Given the description of an element on the screen output the (x, y) to click on. 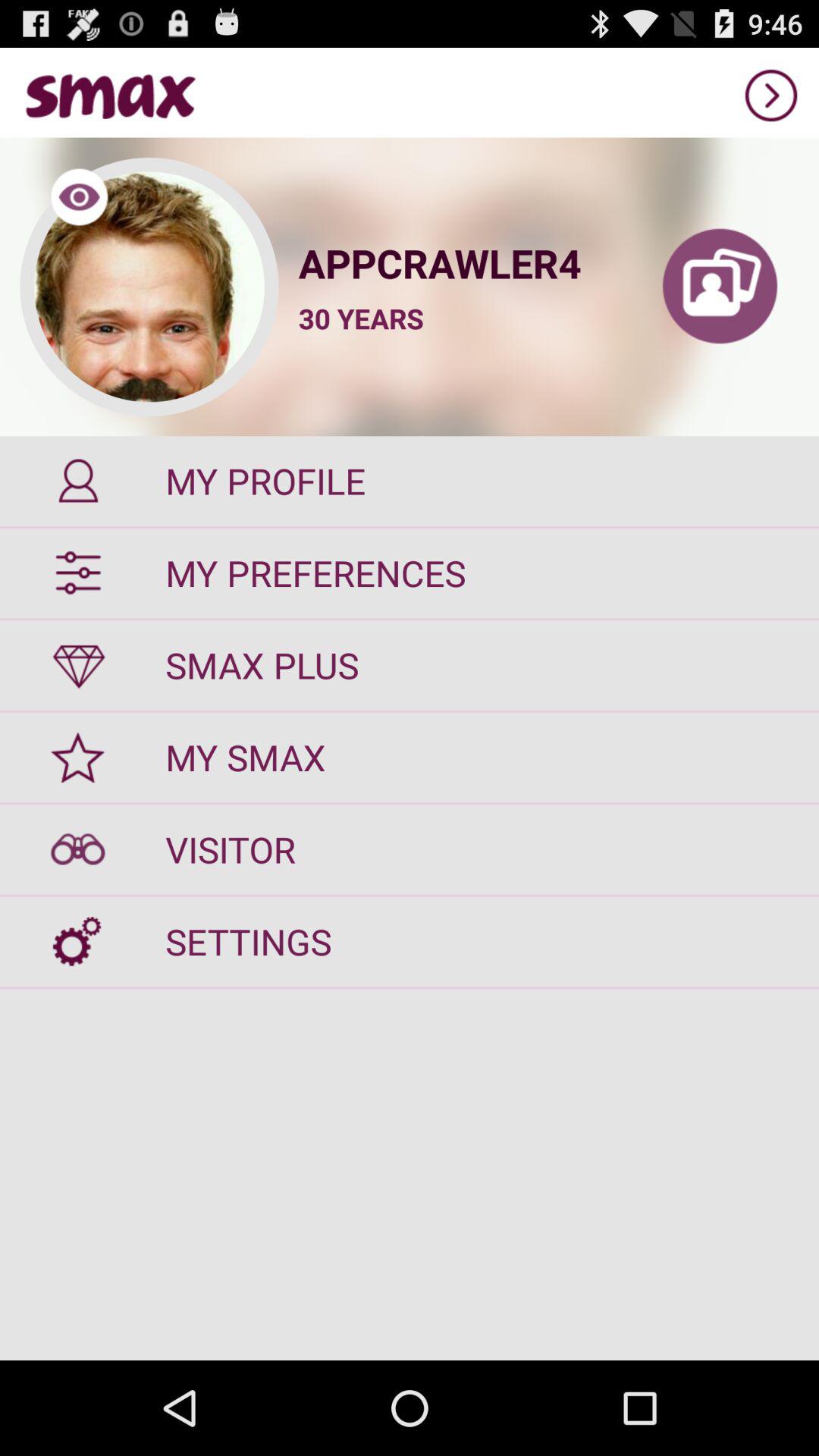
choose the my preferences item (409, 573)
